Given the description of an element on the screen output the (x, y) to click on. 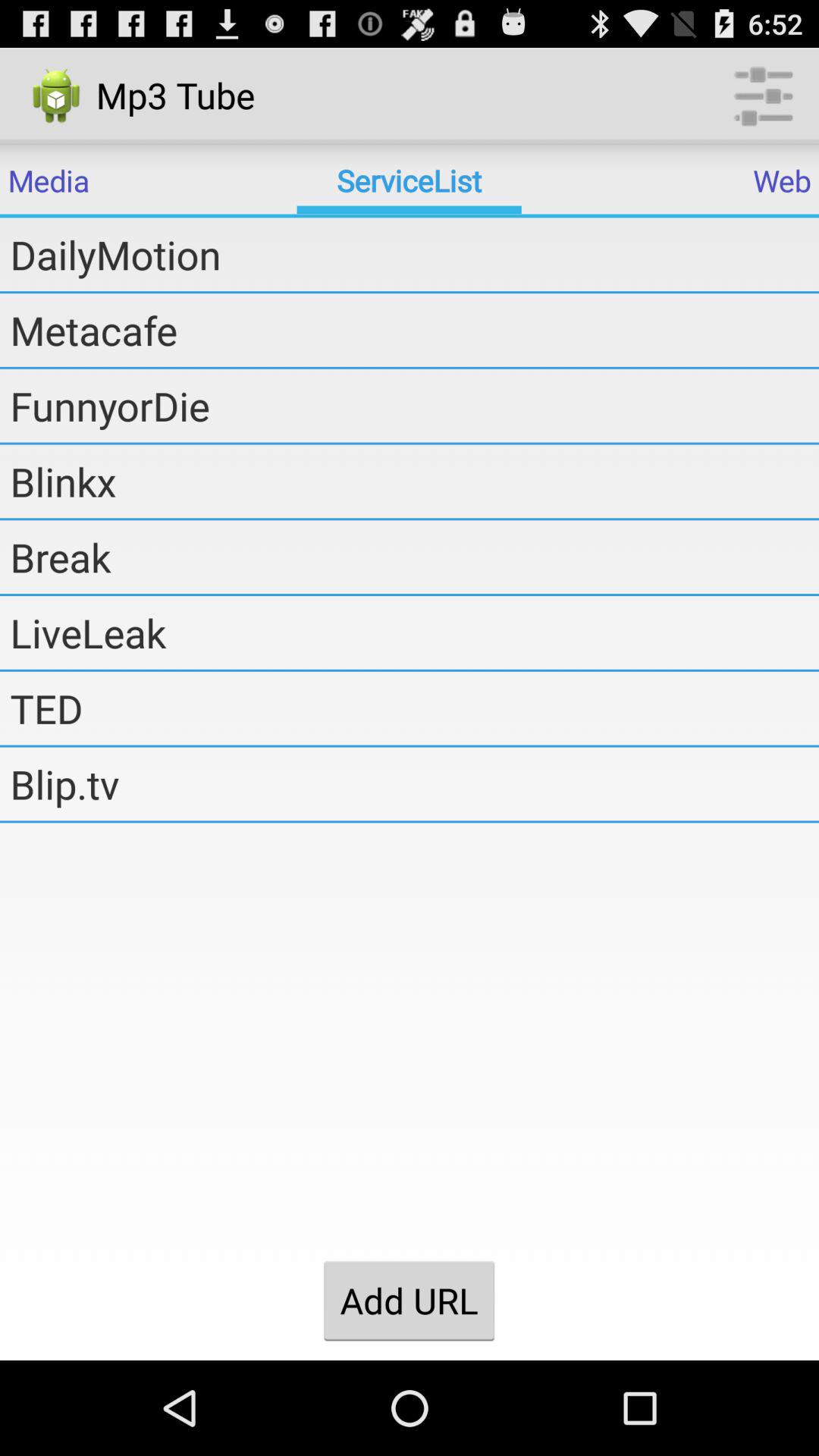
jump until the break app (414, 556)
